Given the description of an element on the screen output the (x, y) to click on. 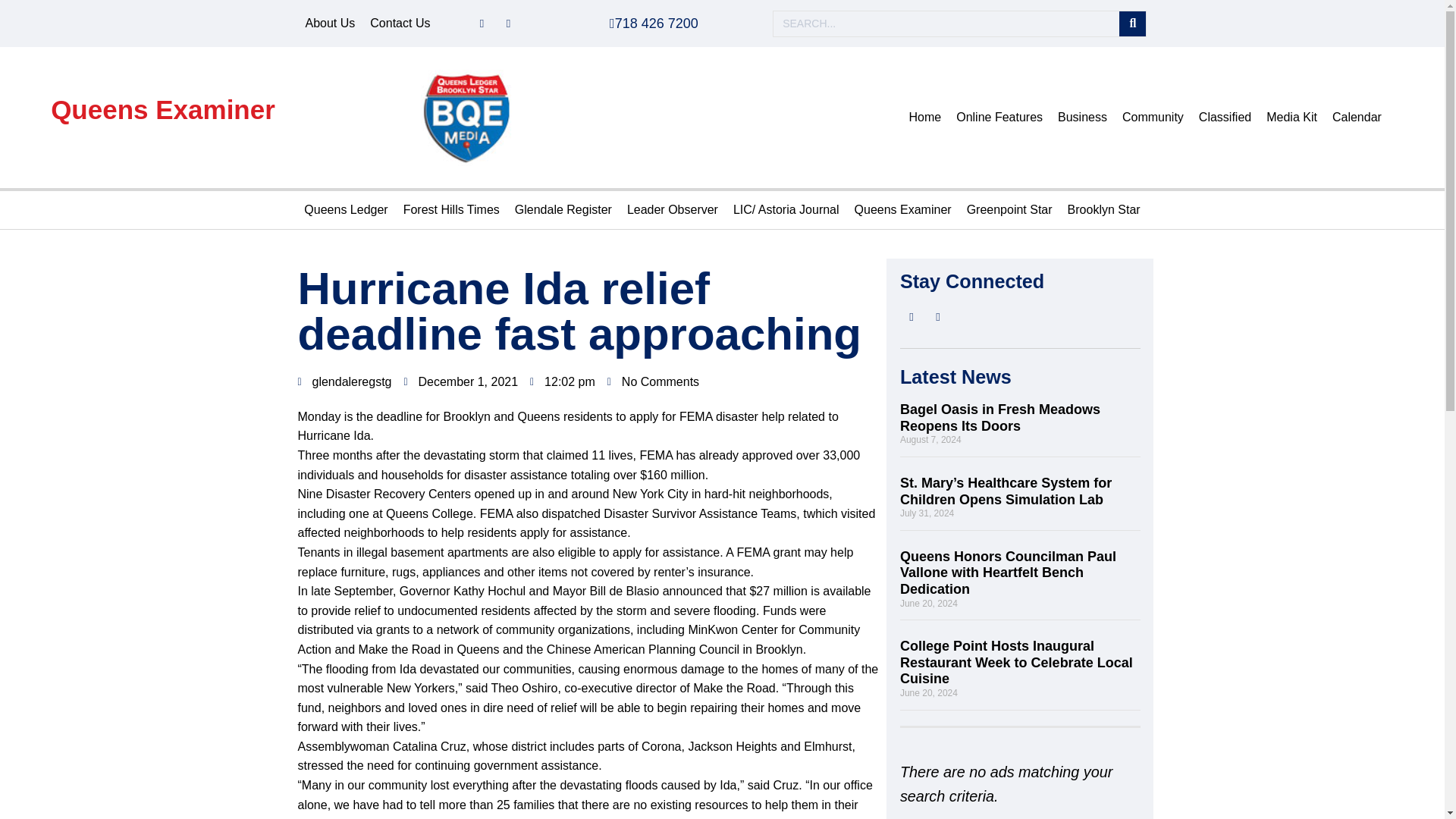
Community (1153, 117)
Contact Us (400, 23)
Home (925, 117)
Online Features (999, 117)
About Us (329, 23)
718 426 7200 (653, 23)
Queens Examiner (162, 109)
Business (1082, 117)
